Given the description of an element on the screen output the (x, y) to click on. 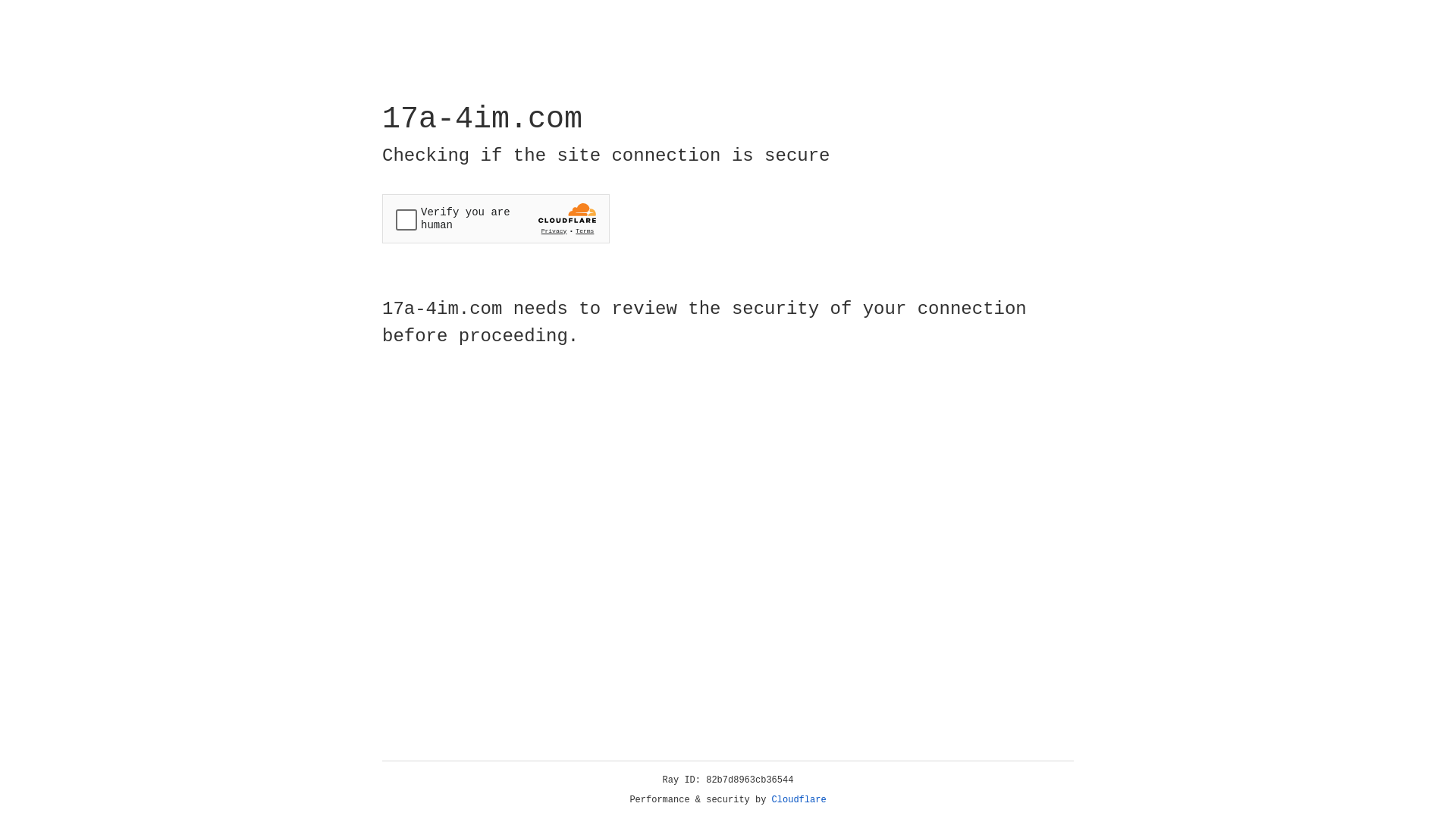
Cloudflare Element type: text (798, 799)
Widget containing a Cloudflare security challenge Element type: hover (495, 218)
